Given the description of an element on the screen output the (x, y) to click on. 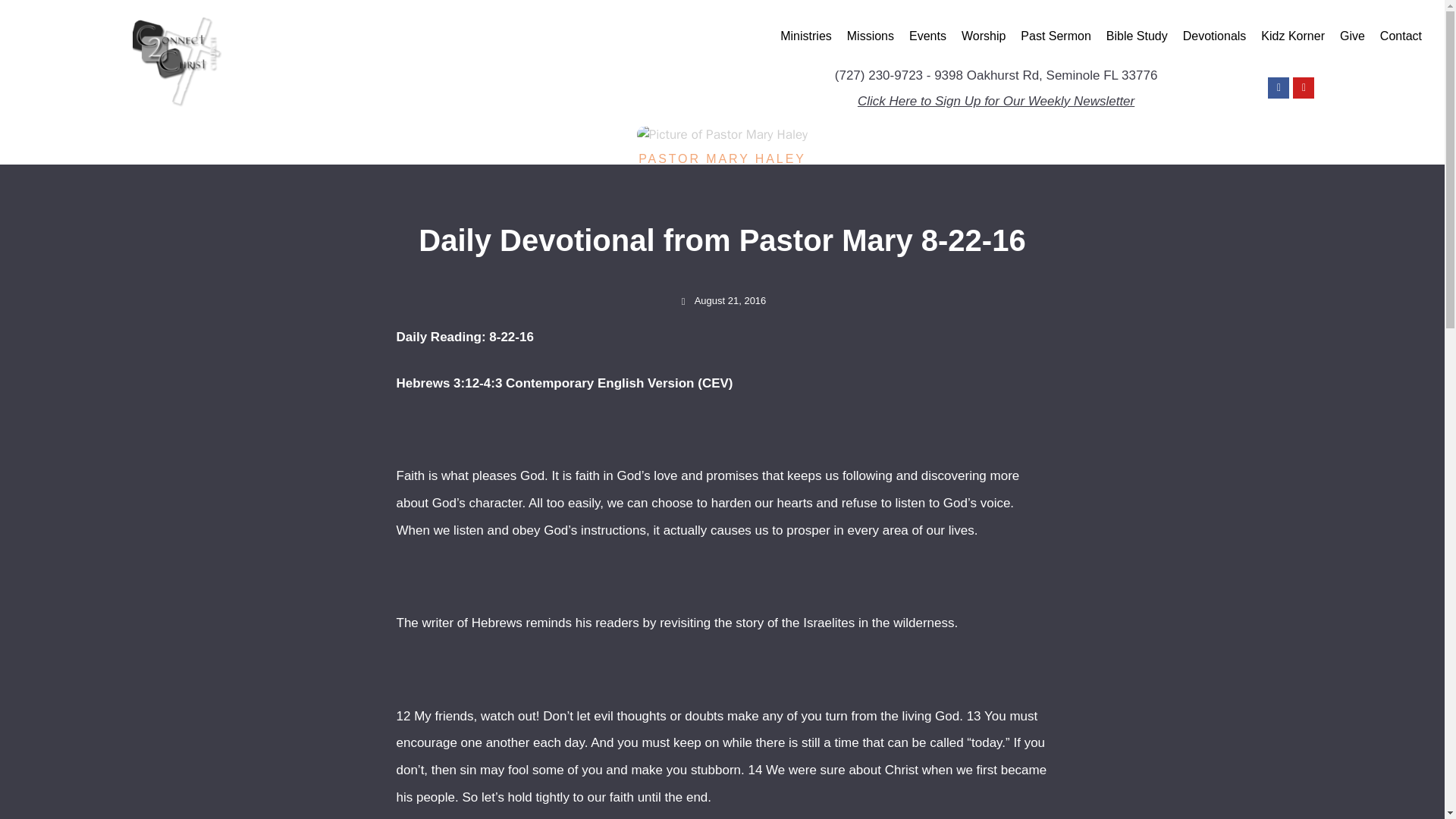
Past Sermon (1055, 36)
Kidz Korner (1292, 36)
Contact (1401, 36)
Events (927, 36)
Bible Study (1136, 36)
Ministries (806, 36)
Devotionals (1213, 36)
Worship (983, 36)
Missions (870, 36)
Give (1352, 36)
